Given the description of an element on the screen output the (x, y) to click on. 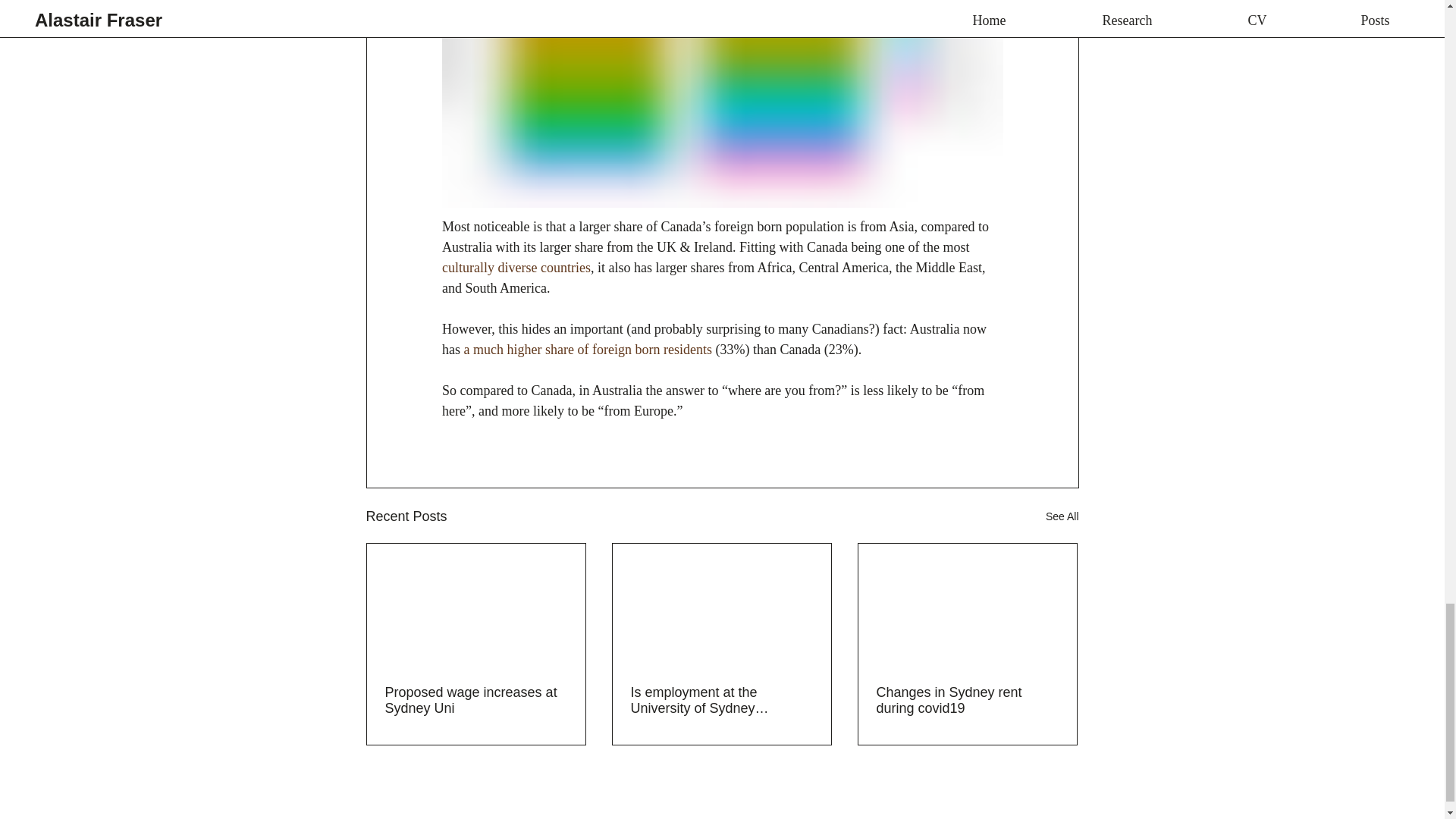
Proposed wage increases at Sydney Uni (476, 700)
See All (1061, 516)
culturally diverse countries (515, 267)
Changes in Sydney rent during covid19 (967, 700)
a much higher share of foreign born residents (587, 349)
